Given the description of an element on the screen output the (x, y) to click on. 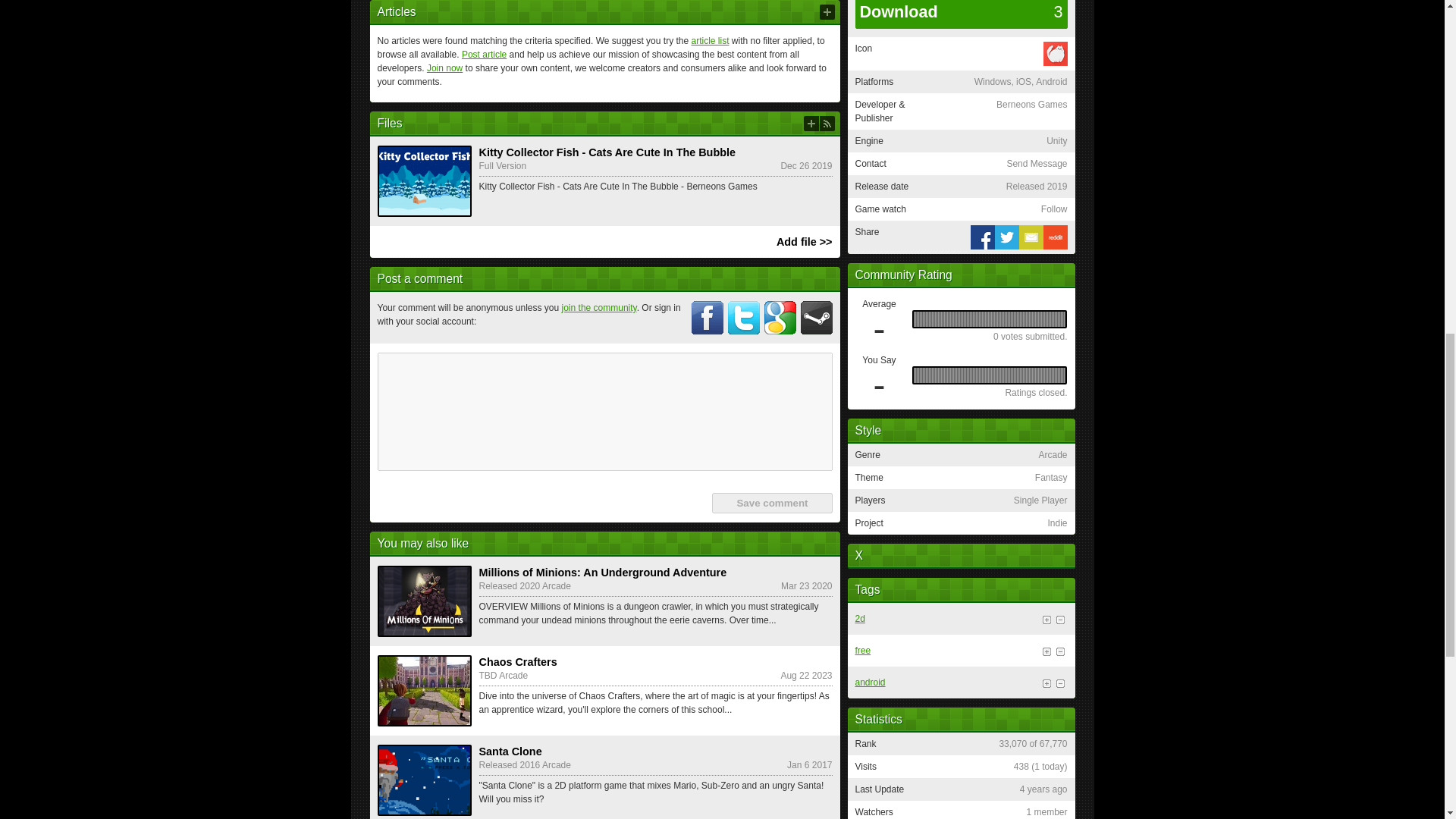
Save comment (771, 503)
